Given the description of an element on the screen output the (x, y) to click on. 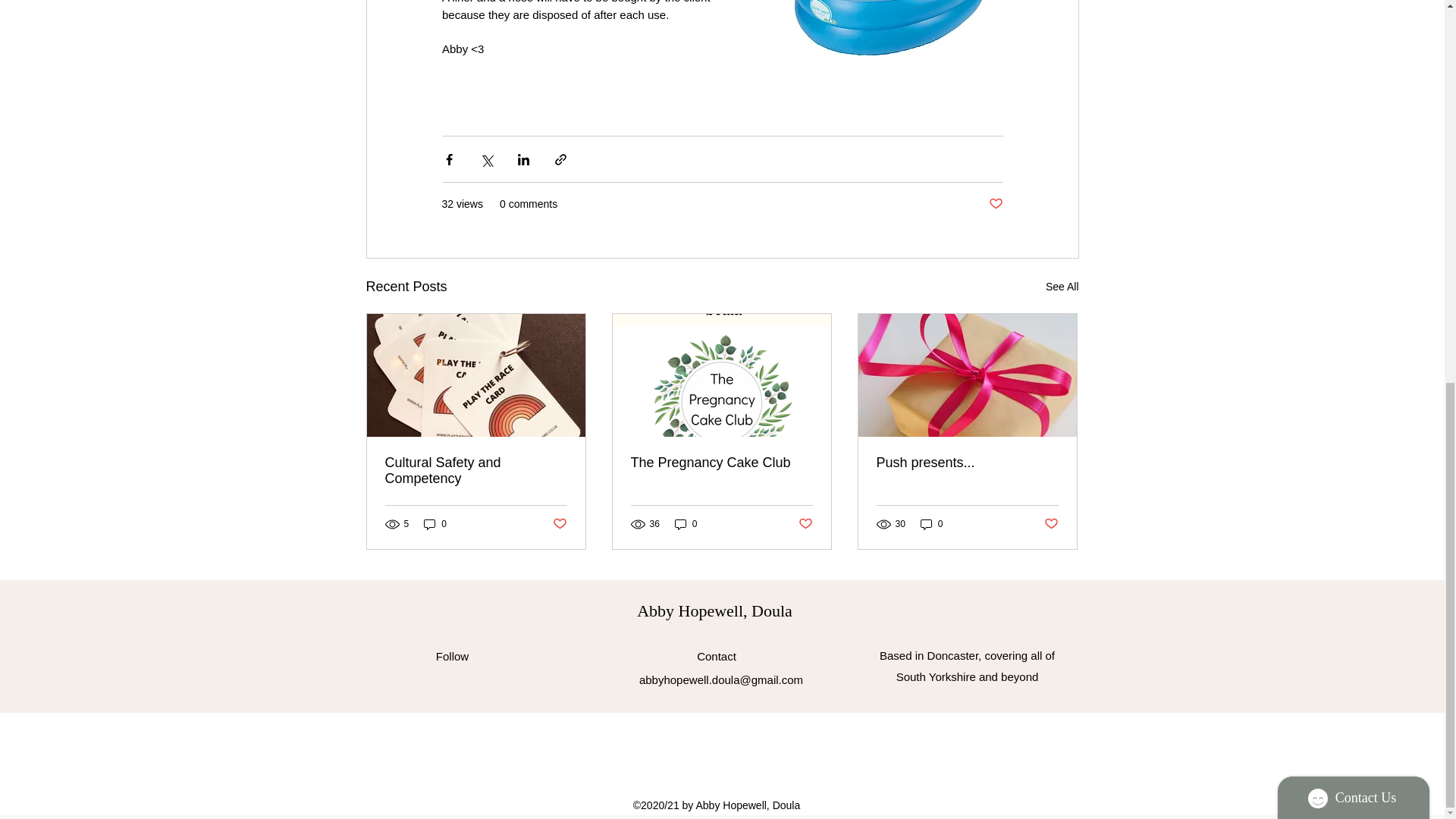
0 (685, 523)
Abby Hopewell, Doula (714, 610)
The Pregnancy Cake Club (721, 462)
Post not marked as liked (558, 523)
See All (1061, 287)
Post not marked as liked (995, 204)
Cultural Safety and Competency (476, 470)
0 (931, 523)
0 (435, 523)
Post not marked as liked (804, 523)
Post not marked as liked (1050, 523)
Push presents... (967, 462)
